Given the description of an element on the screen output the (x, y) to click on. 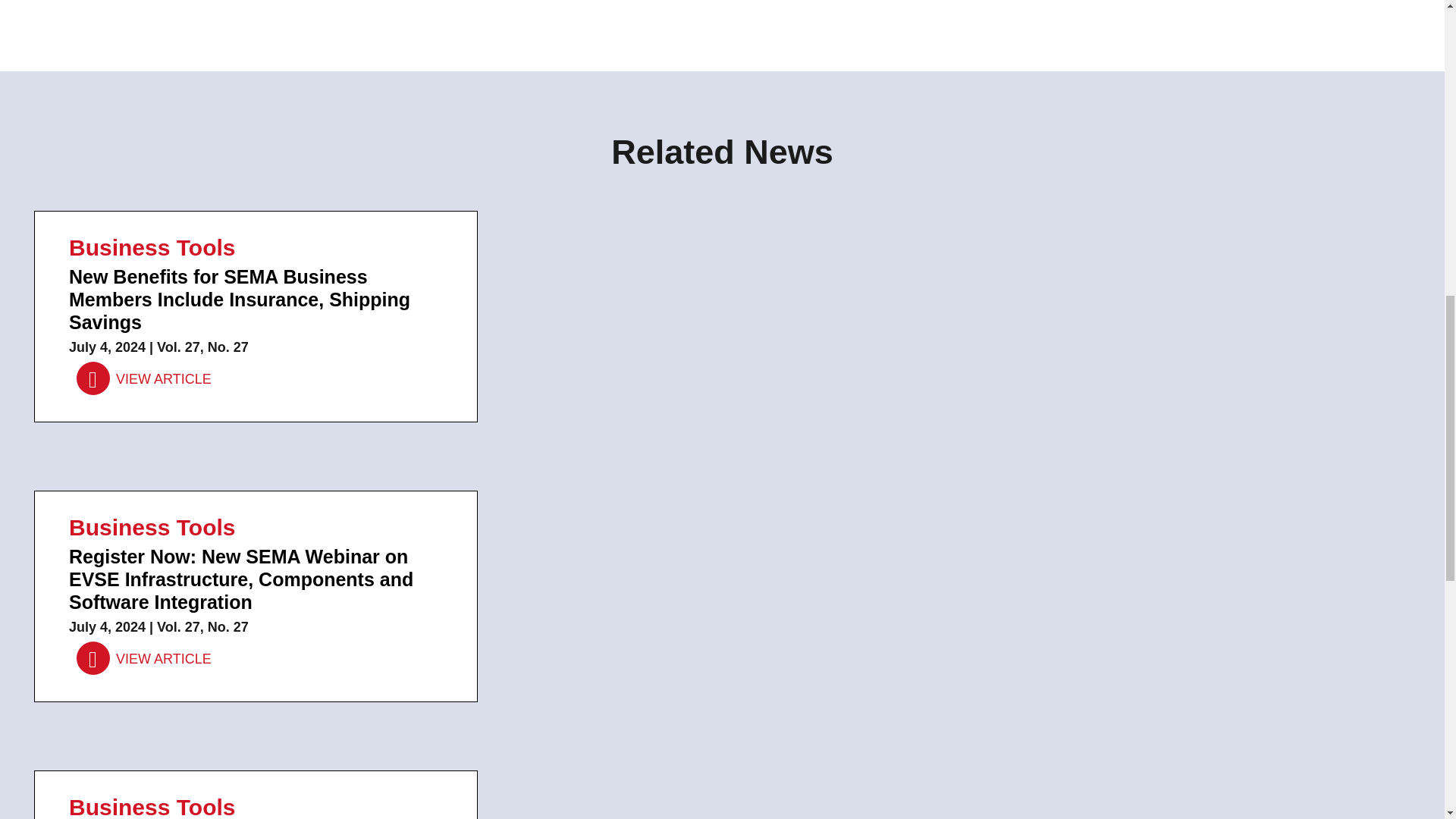
VIEW ARTICLE (143, 378)
VIEW ARTICLE (143, 658)
